Given the description of an element on the screen output the (x, y) to click on. 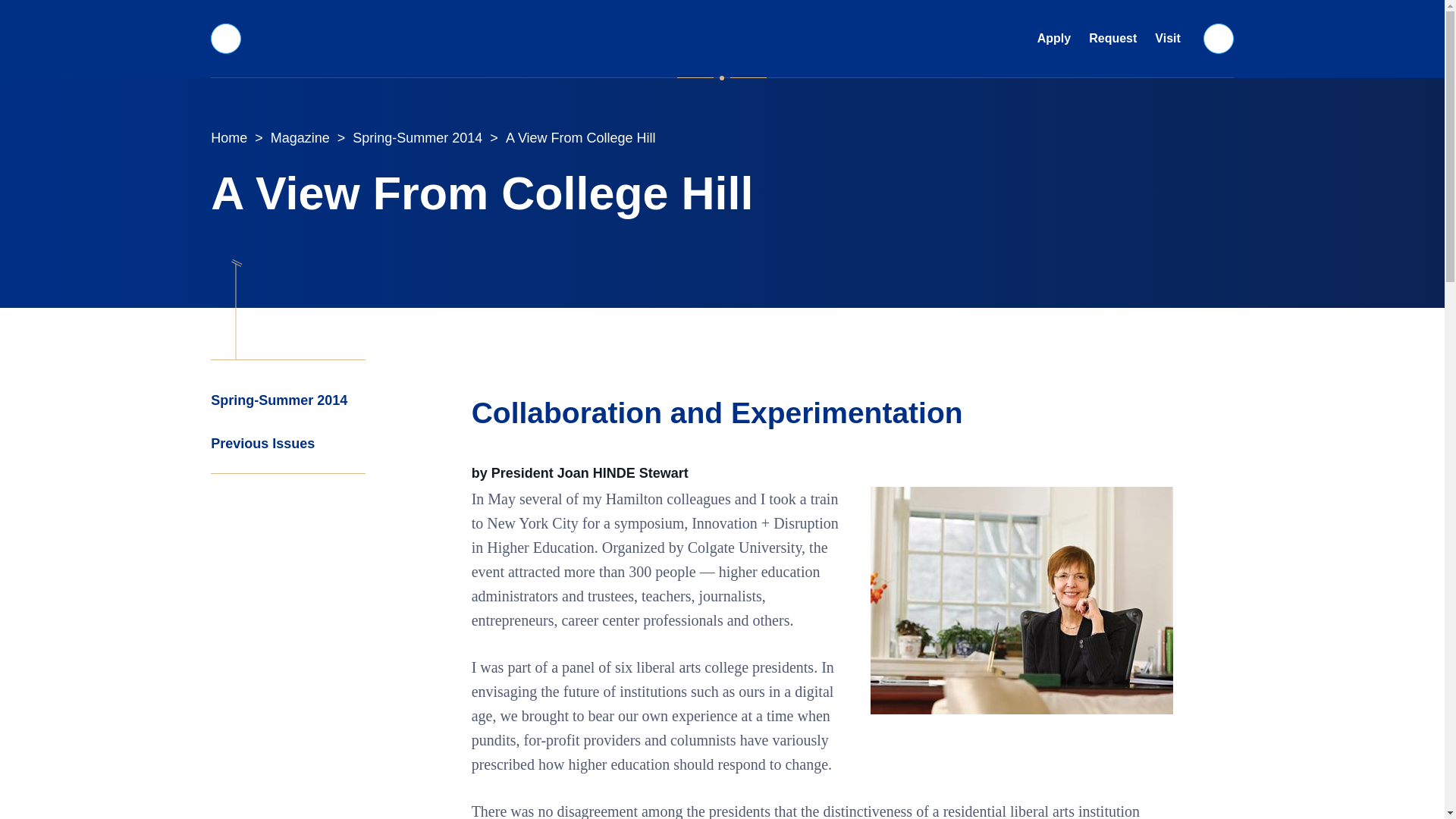
Spring-Summer 2014 (417, 138)
Spring-Summer 2014 (288, 400)
A View From College Hill (580, 138)
Menu (225, 38)
Home (228, 138)
Hamilton (721, 38)
Search (1218, 38)
Request (1112, 38)
Magazine (300, 138)
Apply (1053, 38)
